Given the description of an element on the screen output the (x, y) to click on. 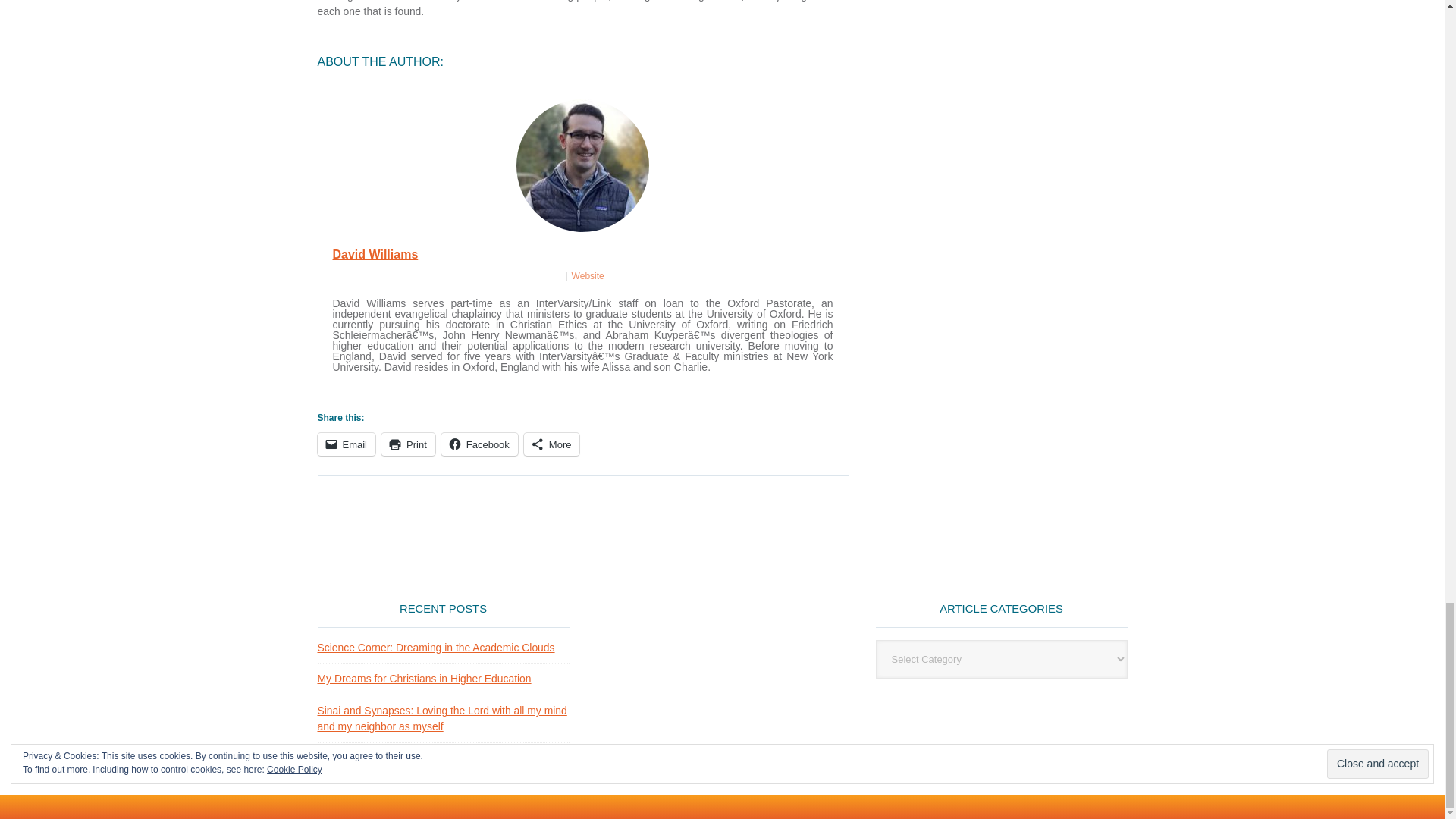
Print (408, 444)
More (551, 444)
Click to share on Facebook (479, 444)
Website (588, 276)
Facebook (479, 444)
Email (346, 444)
David Williams (374, 254)
Click to email a link to a friend (346, 444)
Click to print (408, 444)
